Given the description of an element on the screen output the (x, y) to click on. 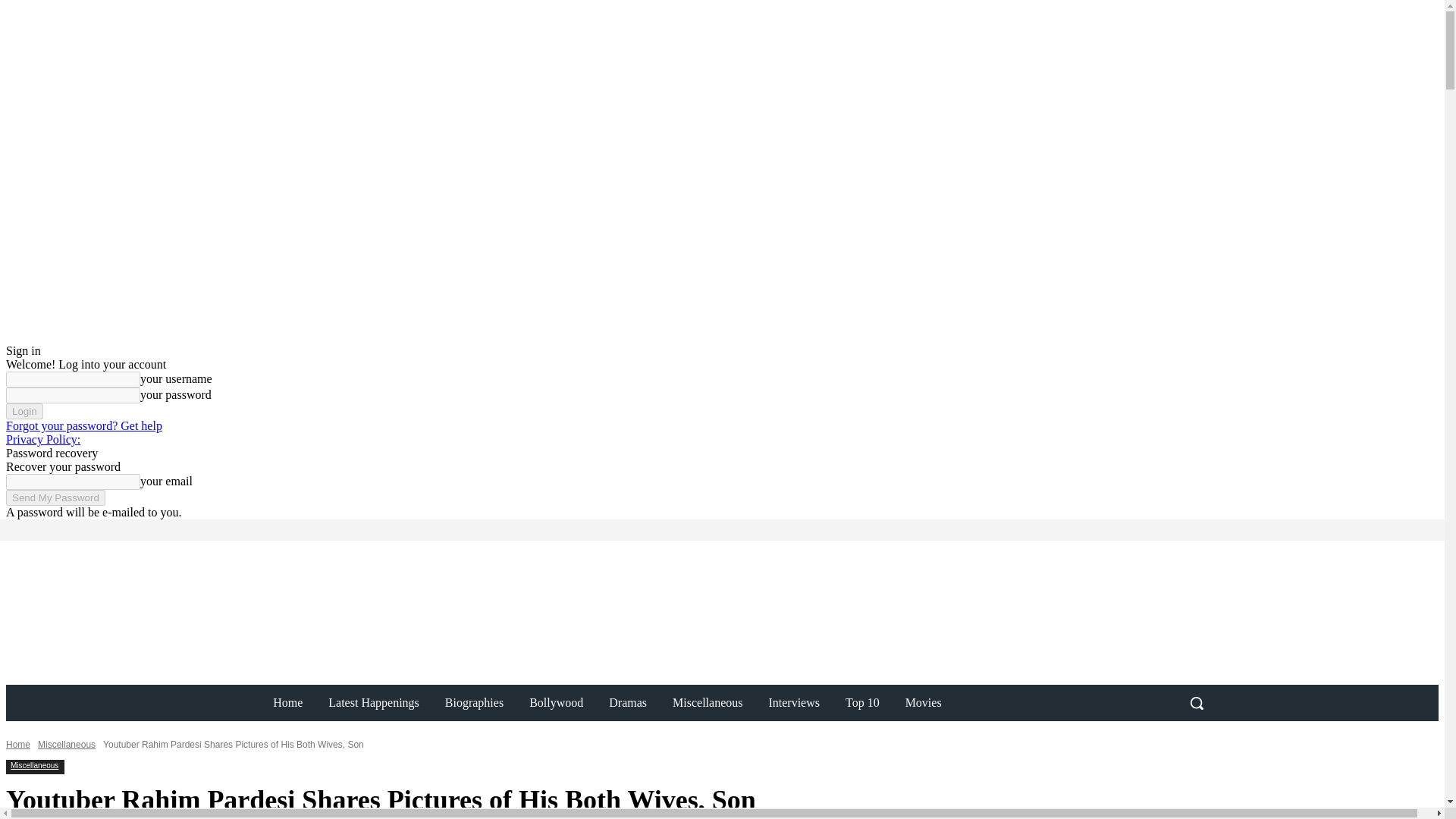
Login (24, 411)
Miscellaneous (66, 744)
Miscellaneous (33, 766)
Dramas (627, 702)
Youtube (260, 529)
Send My Password (54, 497)
View all posts in Miscellaneous (66, 744)
Home (17, 744)
Interviews (793, 702)
Movies (923, 702)
Miscellaneous (707, 702)
Latest Happenings (373, 702)
Top 10 (862, 702)
Instagram (218, 529)
Privacy Policy: (42, 439)
